Given the description of an element on the screen output the (x, y) to click on. 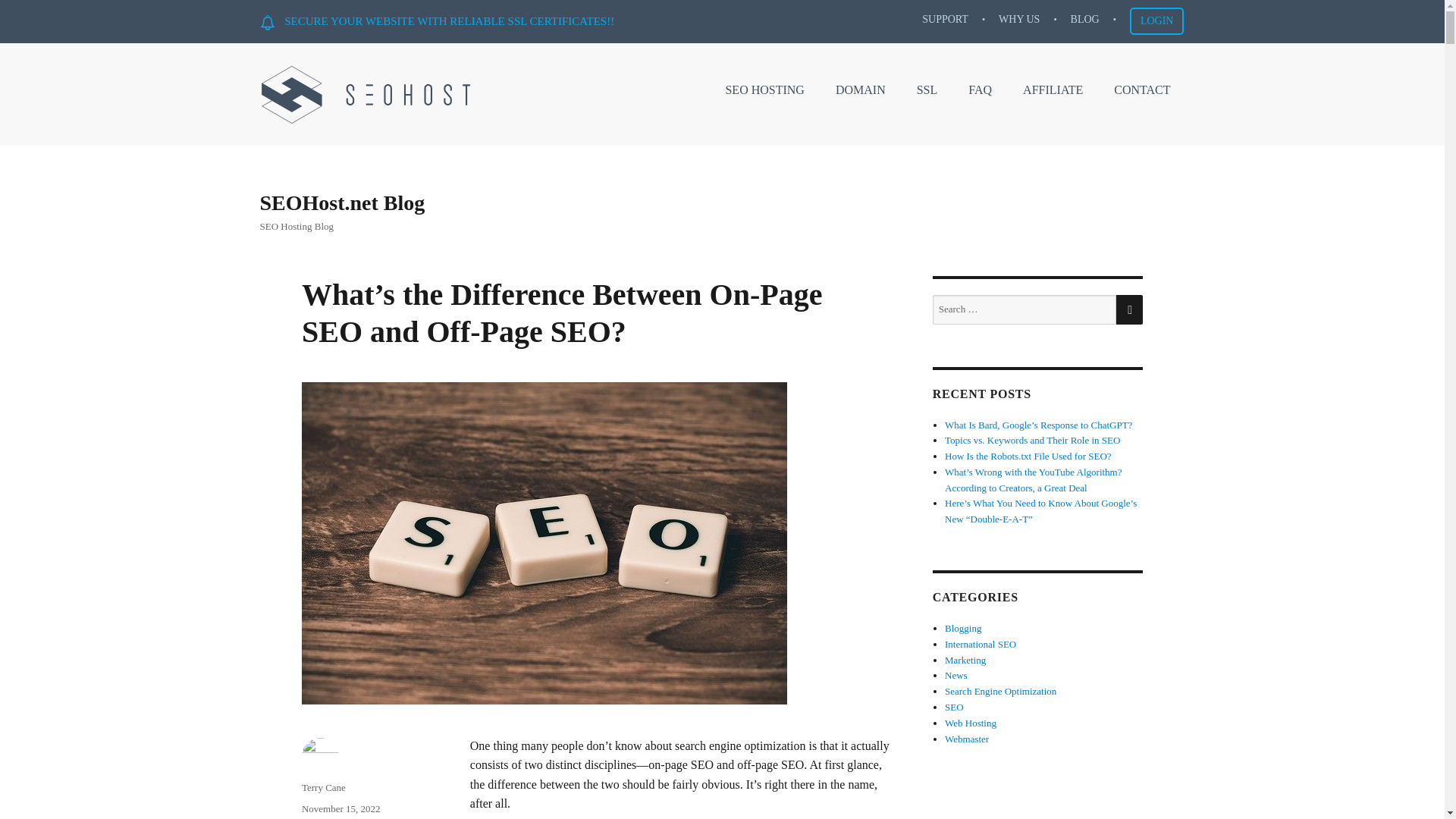
Terry Cane (323, 787)
SUPPORT (944, 19)
November 15, 2022 (340, 808)
CONTACT (1141, 90)
SeoHost.net Company Logo (365, 98)
SEO HOSTING (763, 90)
SSL (927, 90)
SEOHost.net Blog (342, 202)
WHY US (1018, 19)
SeoHost.net Company Logo (365, 94)
BLOG (1084, 19)
LOGIN (1157, 21)
DOMAIN (860, 90)
AFFILIATE (1052, 90)
FAQ (980, 90)
